Given the description of an element on the screen output the (x, y) to click on. 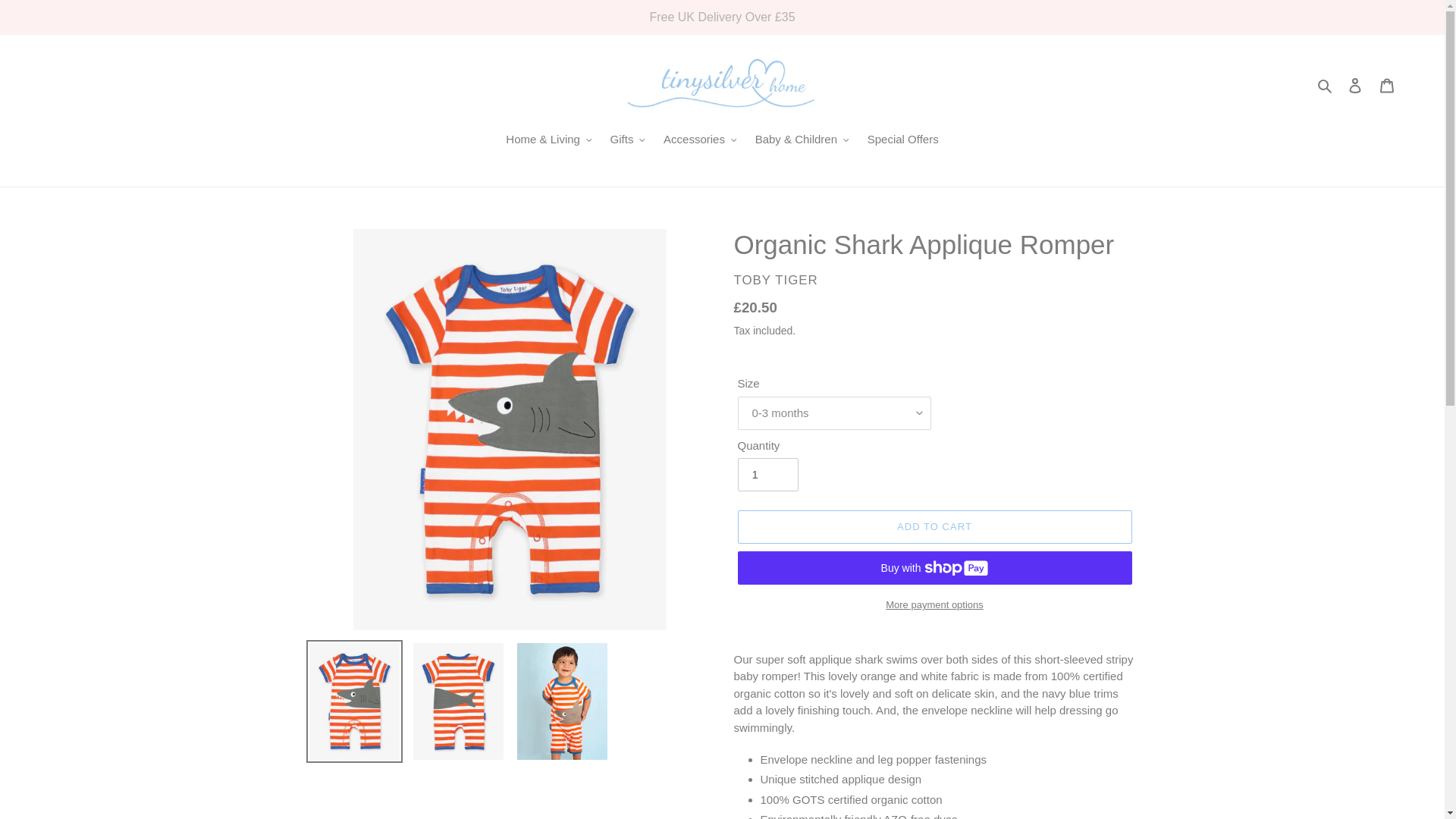
Cart (1387, 84)
1 (766, 474)
Log in (1355, 84)
Search (1326, 85)
